Given the description of an element on the screen output the (x, y) to click on. 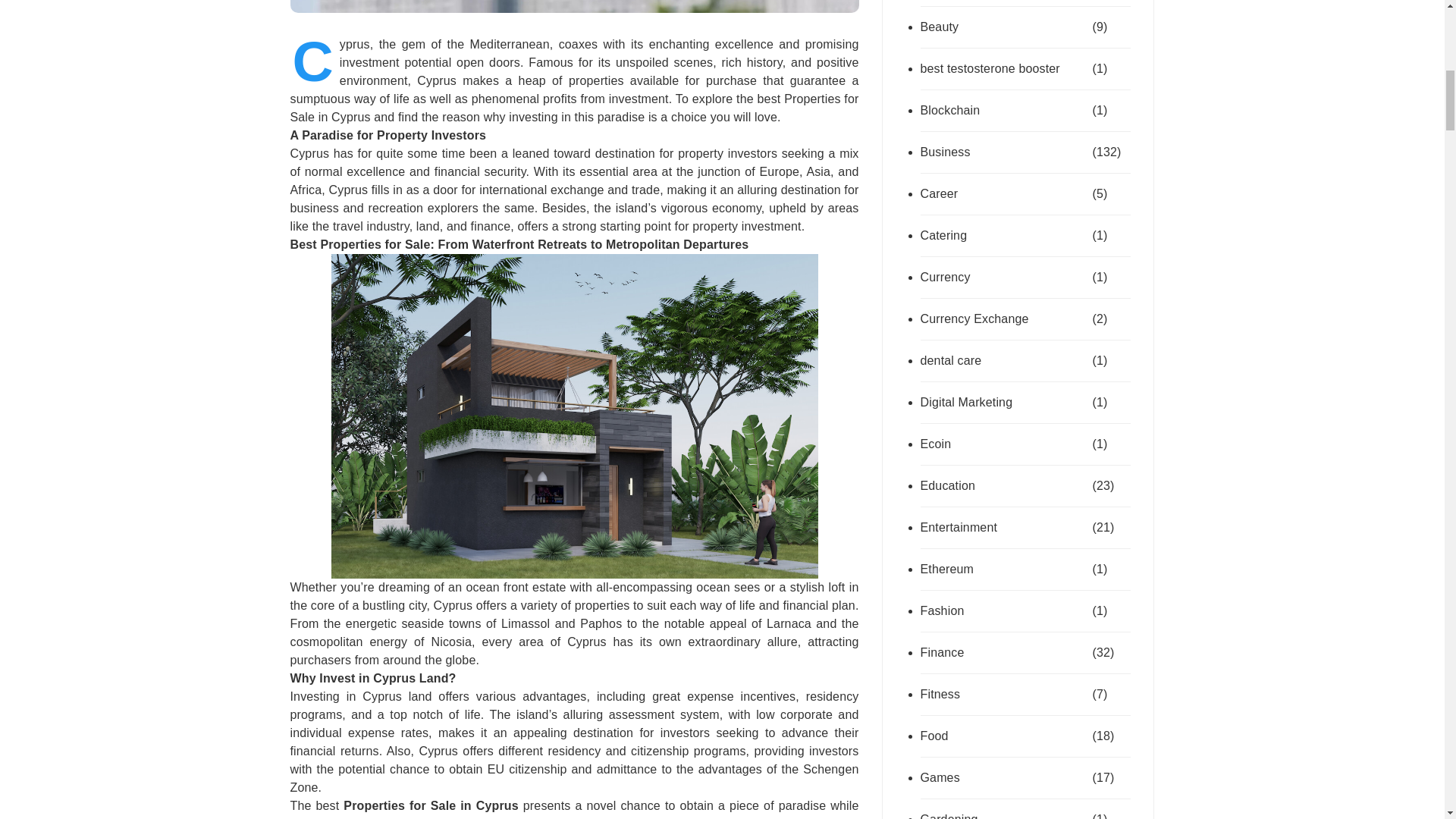
Properties for Sale in Cyprus (430, 805)
